Given the description of an element on the screen output the (x, y) to click on. 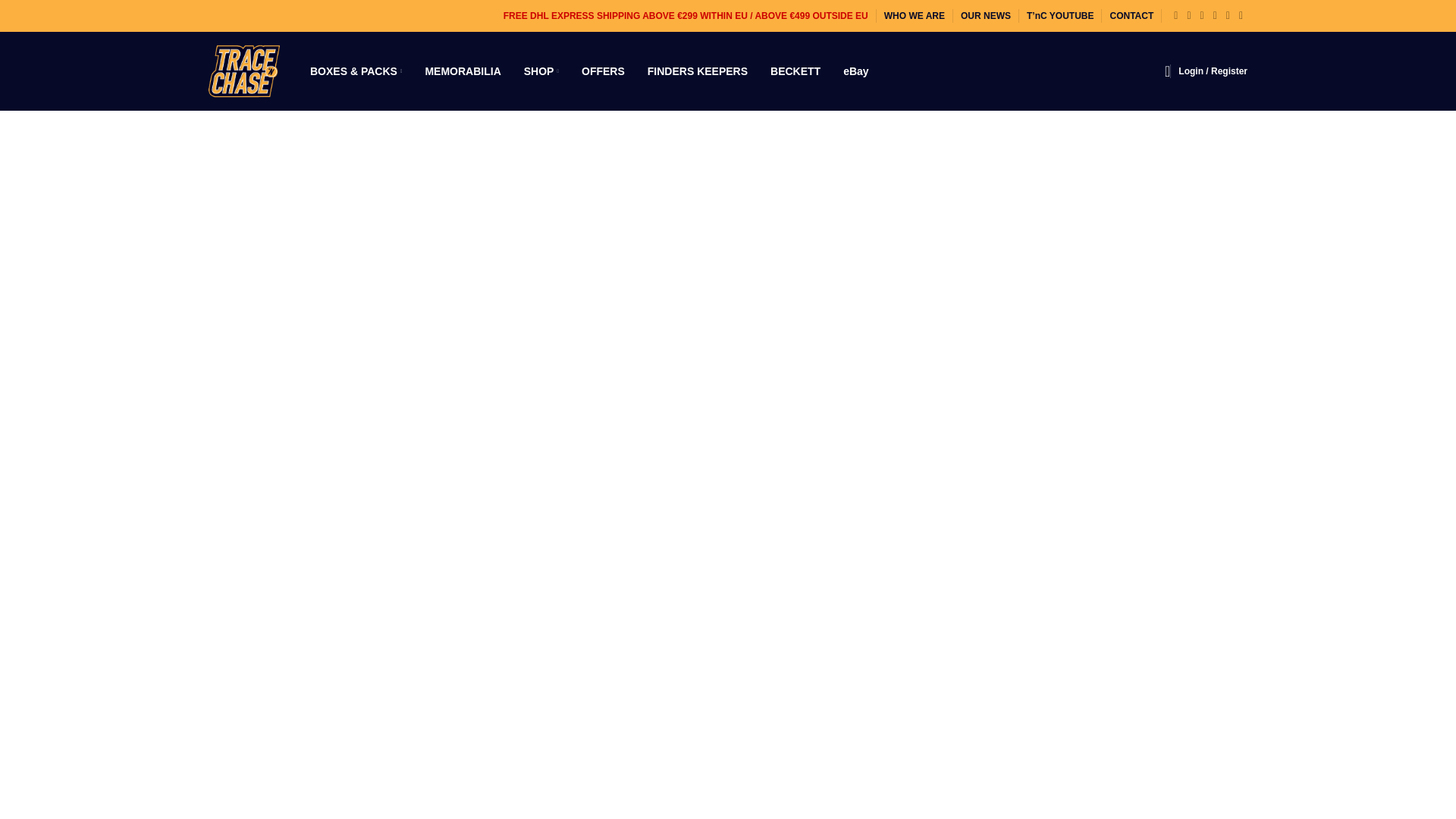
SHOP (541, 71)
CONTACT (1131, 15)
OUR NEWS (985, 15)
MEMORABILIA (462, 71)
BECKETT (795, 71)
WHO WE ARE (913, 15)
OFFERS (602, 71)
My account (1212, 71)
FINDERS KEEPERS (697, 71)
